Given the description of an element on the screen output the (x, y) to click on. 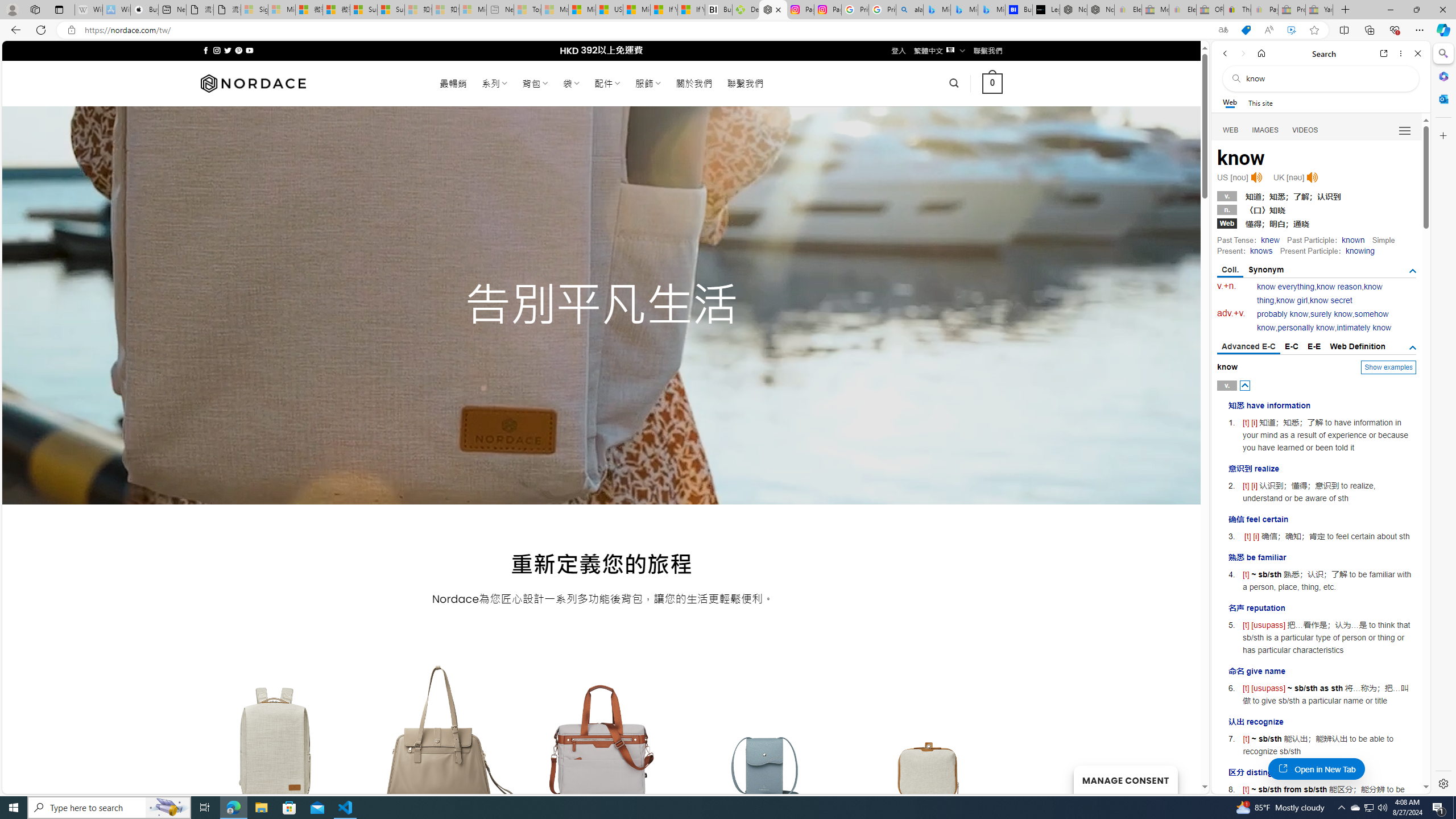
know thing (1319, 293)
Payments Terms of Use | eBay.com - Sleeping (1264, 9)
Synonym (1265, 269)
Marine life - MSN - Sleeping (554, 9)
Sign in to your Microsoft account - Sleeping (254, 9)
 0  (992, 83)
E-C (1291, 345)
Follow on Instagram (216, 50)
Buy iPad - Apple (144, 9)
